Given the description of an element on the screen output the (x, y) to click on. 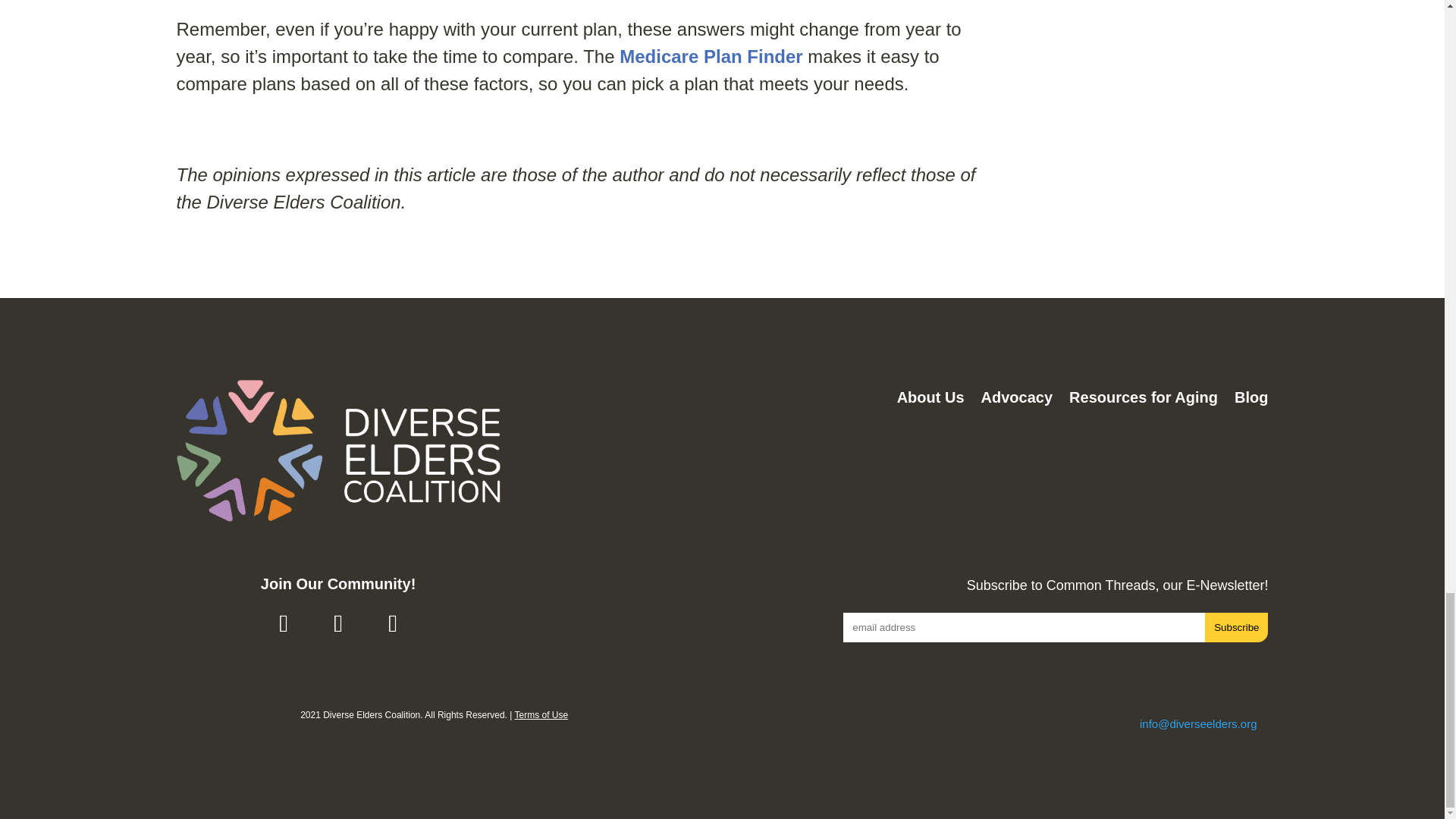
Blog (1251, 399)
Advocacy (1016, 399)
Resources for Aging (1142, 399)
Subscribe (1236, 627)
Follow on LinkedIn (392, 622)
Follow on X (338, 622)
Terms of Use (542, 715)
Medicare Plan Finder (711, 55)
Follow on Facebook (283, 622)
Subscribe (1236, 627)
About Us (929, 399)
